Given the description of an element on the screen output the (x, y) to click on. 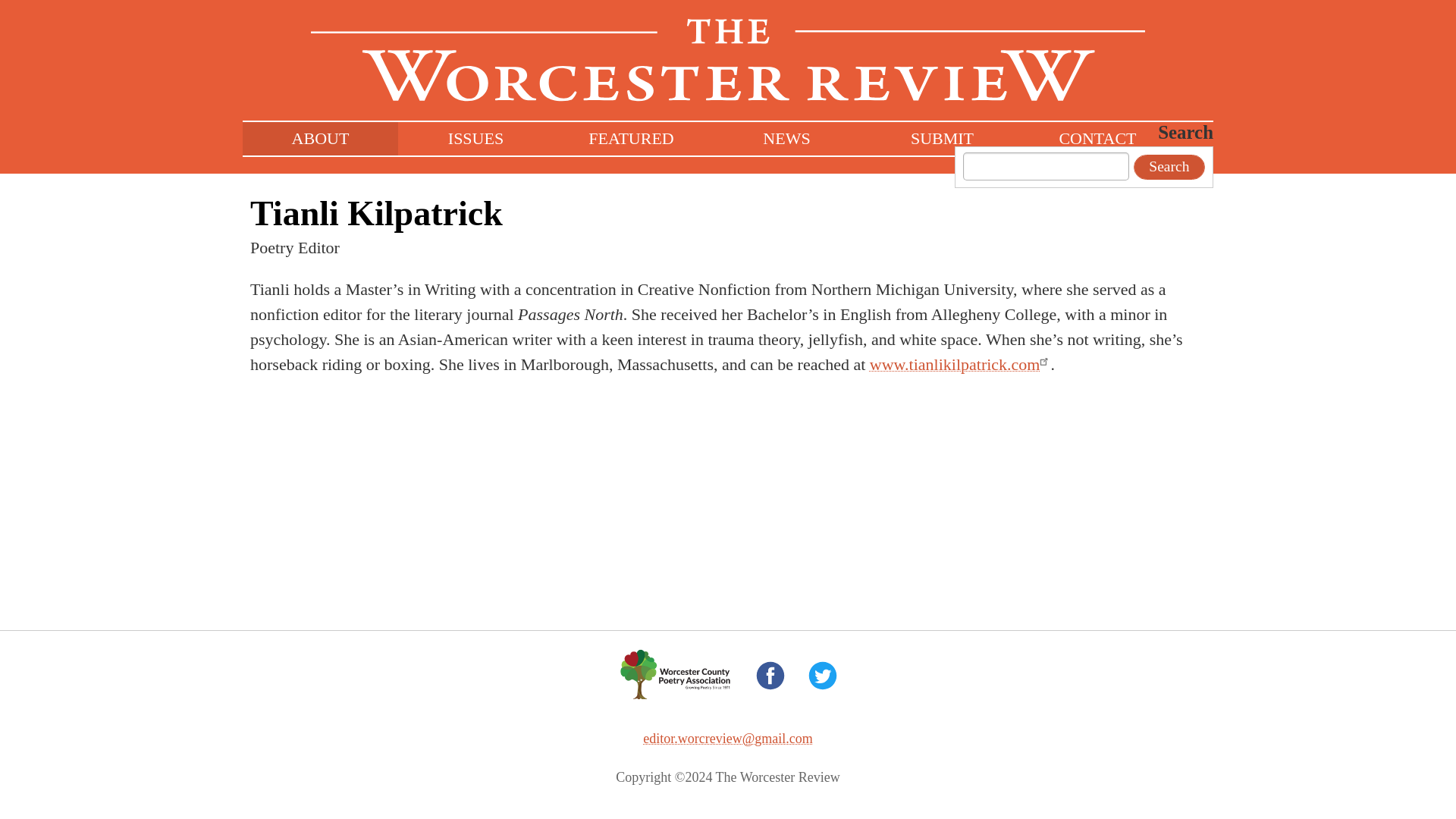
Enter the terms you wish to search for. (1045, 166)
FEATURED (631, 138)
CONTACT (1097, 138)
Search (1169, 166)
Search (1169, 166)
NEWS (786, 138)
ISSUES (475, 138)
ABOUT (320, 138)
SUBMIT (942, 138)
